Given the description of an element on the screen output the (x, y) to click on. 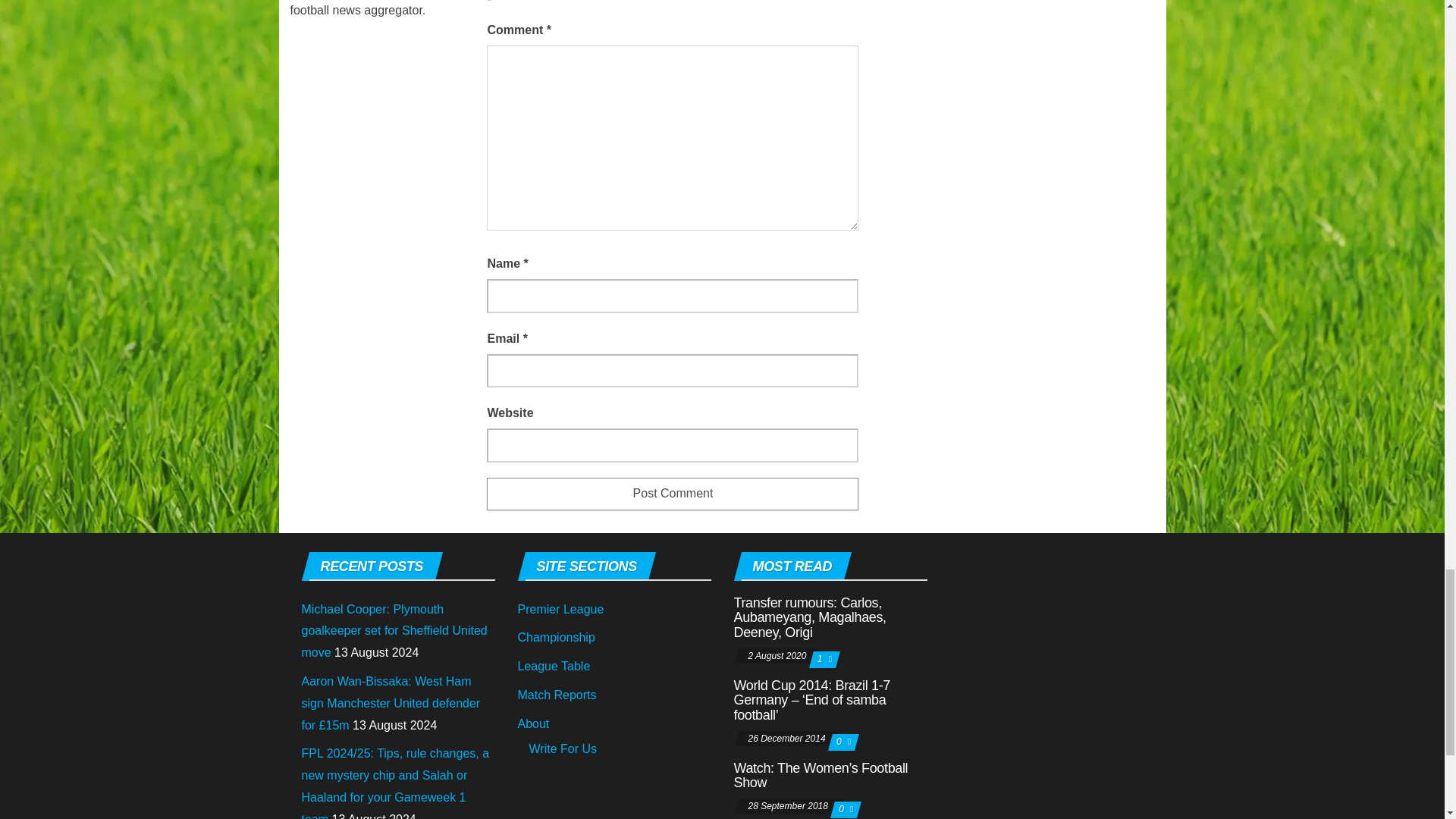
Post Comment (672, 493)
Post Comment (672, 493)
